Given the description of an element on the screen output the (x, y) to click on. 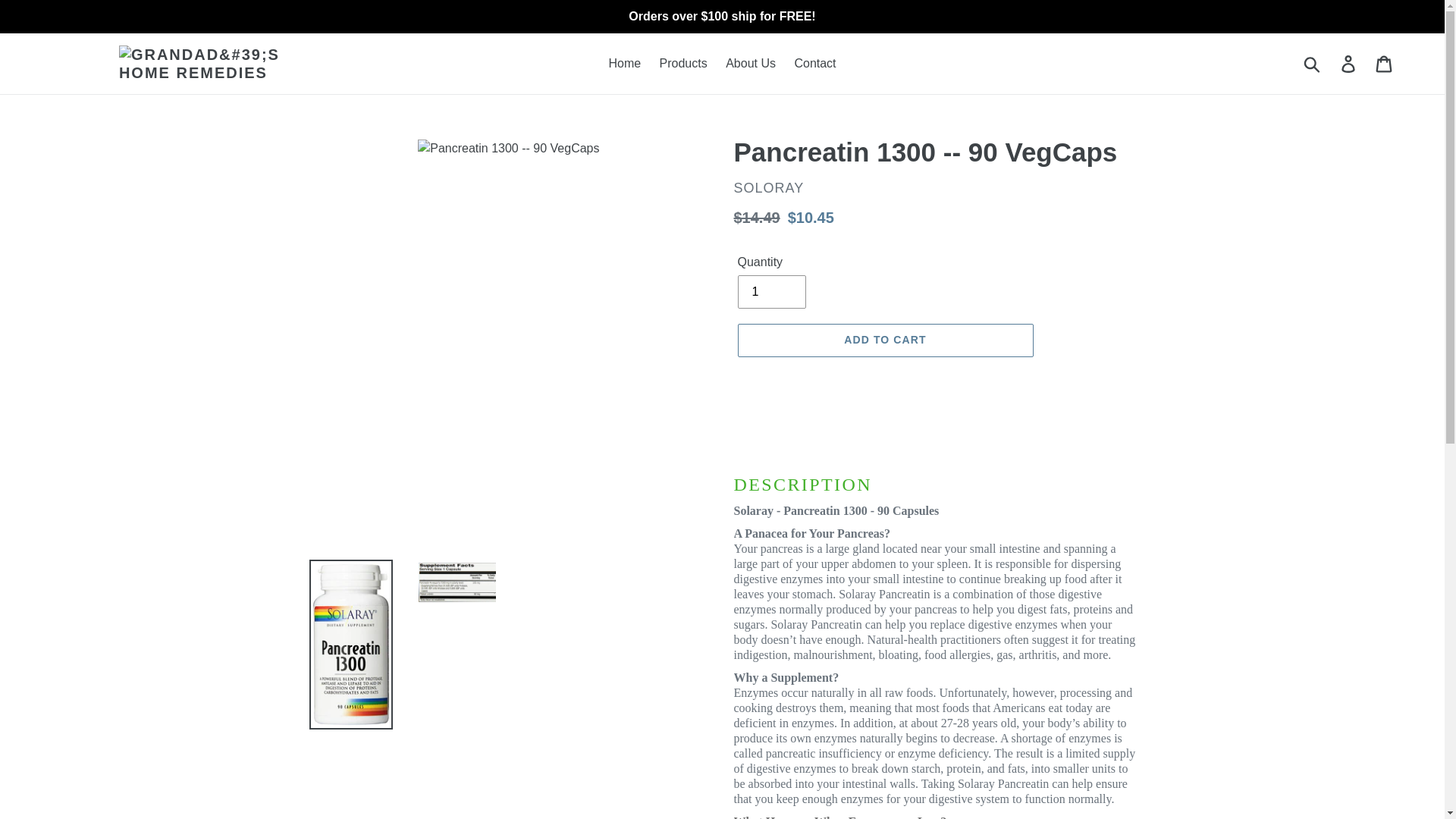
ADD TO CART (884, 340)
About Us (750, 63)
Submit (1313, 63)
Home (623, 63)
Contact (814, 63)
1 (770, 291)
Products (683, 63)
Log in (1349, 63)
Cart (1385, 63)
